Given the description of an element on the screen output the (x, y) to click on. 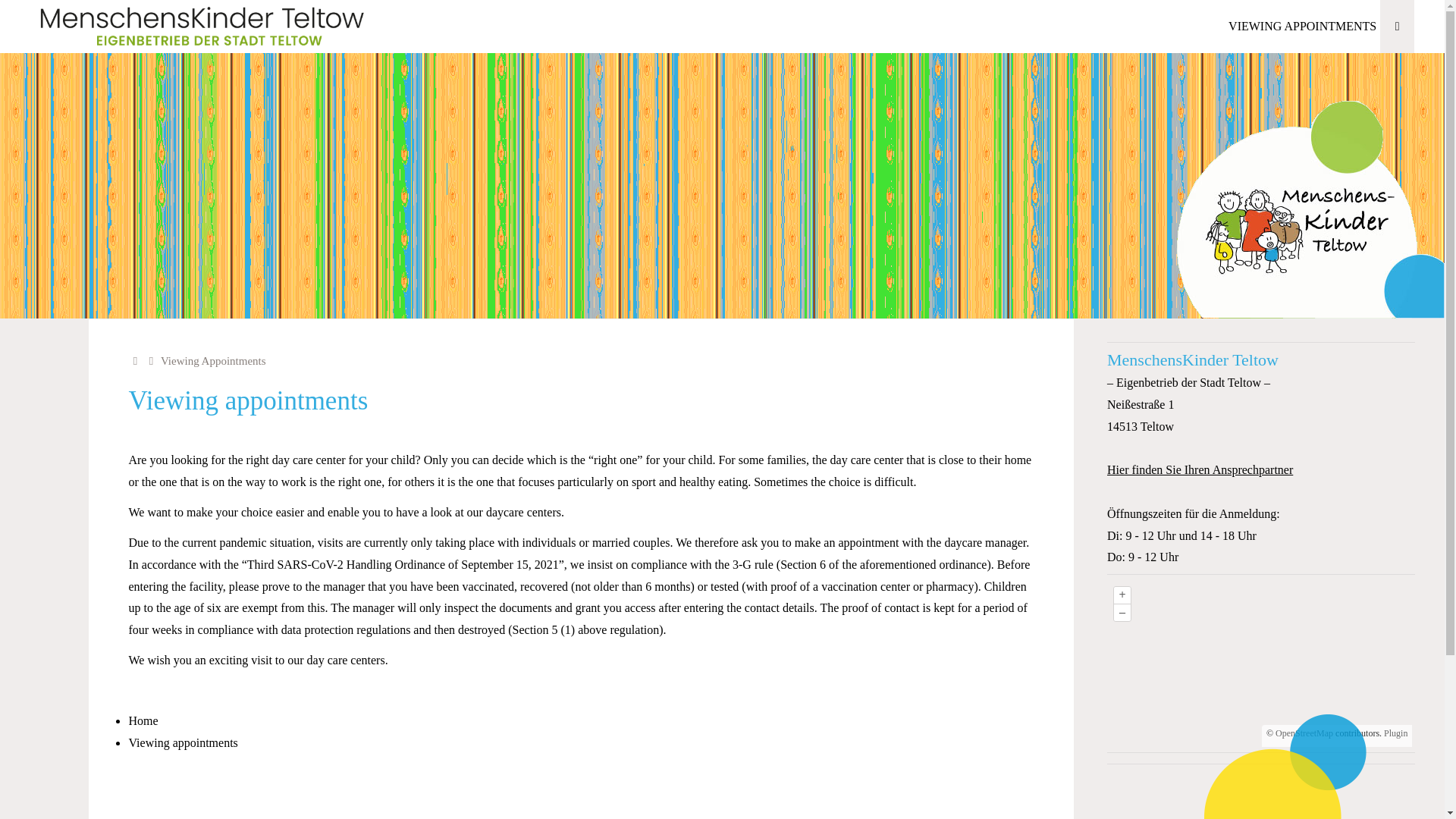
OpenStreetMap (1304, 733)
Zoom out (1122, 612)
SEARCH (1397, 26)
Menschenskinder Teltow (202, 25)
Home (136, 360)
Home (136, 360)
Viewing appointments (182, 742)
Hier finden Sie Ihren Ansprechpartner (1199, 469)
Plugin (1394, 733)
VIEWING APPOINTMENTS (1301, 26)
Zoom in (1122, 595)
Home (142, 720)
